Given the description of an element on the screen output the (x, y) to click on. 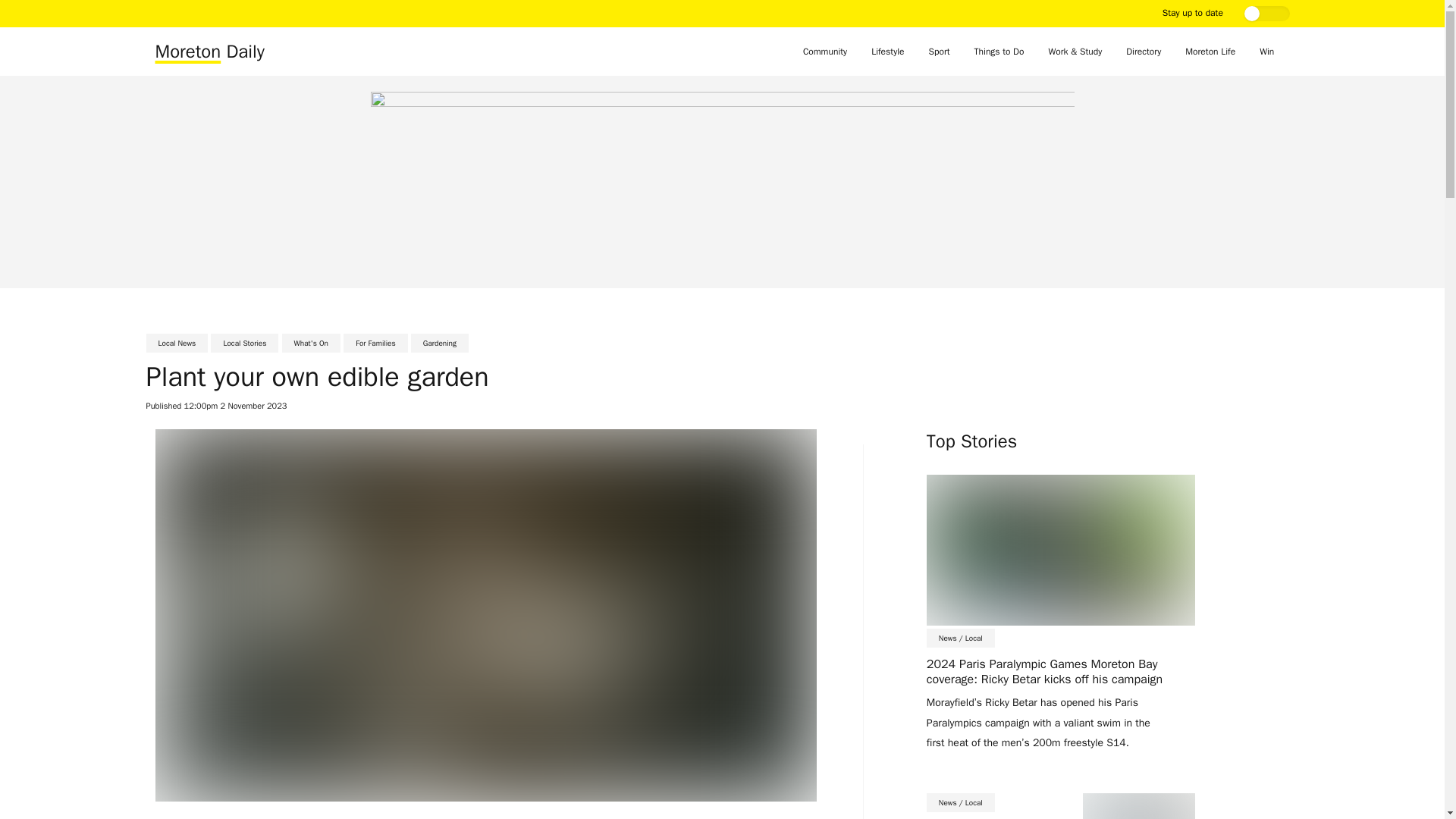
Things to Do (999, 51)
Lifestyle (887, 51)
Community (824, 51)
Moreton Life (1210, 51)
Moreton Daily (208, 51)
Stay up to date (1193, 12)
Sport (939, 51)
Directory (1143, 51)
